Given the description of an element on the screen output the (x, y) to click on. 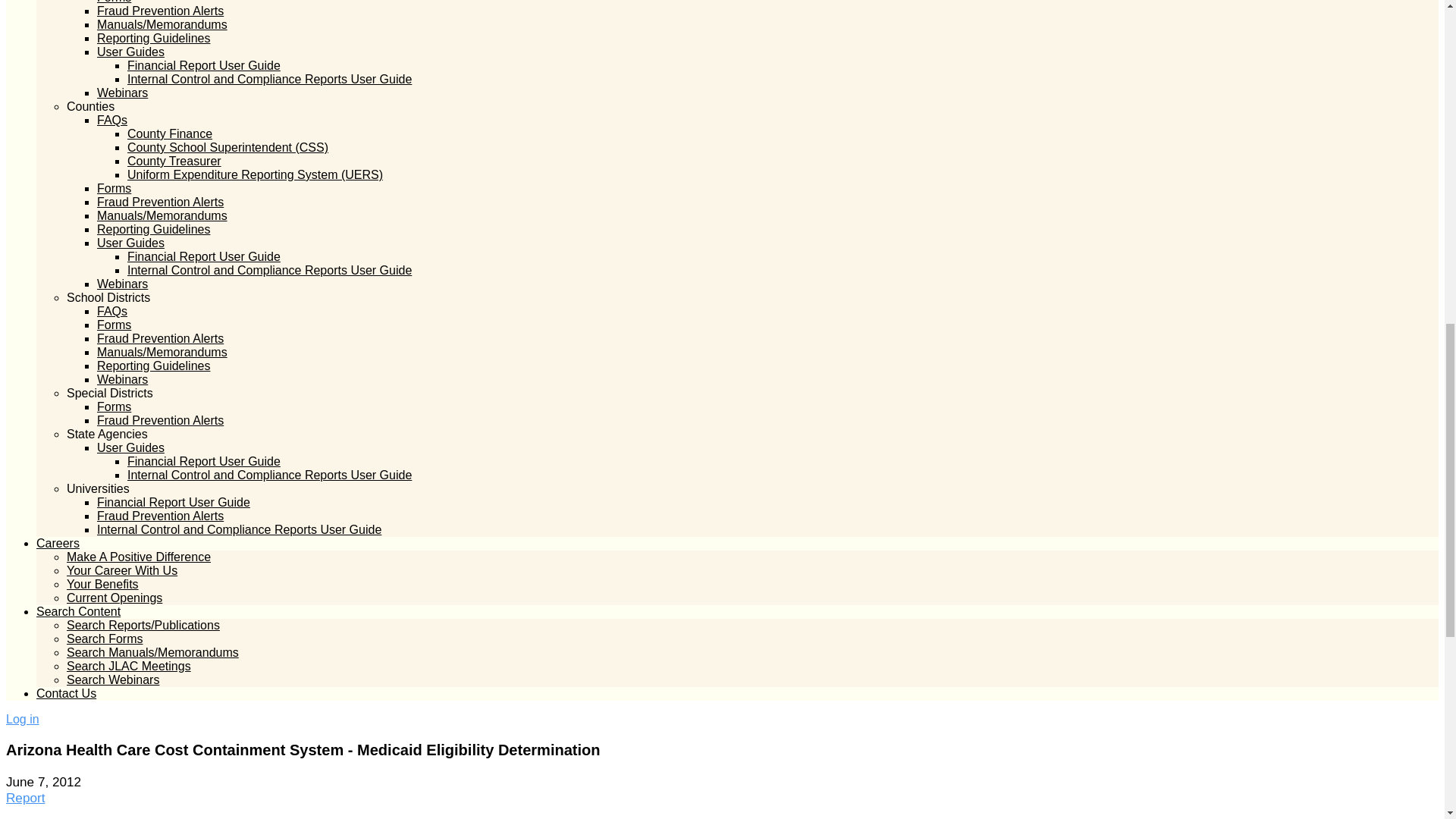
Reporting Guidelines (153, 38)
Reporting Guidelines for School Districts (153, 365)
Reporting Guidelines for Counties (153, 228)
